Given the description of an element on the screen output the (x, y) to click on. 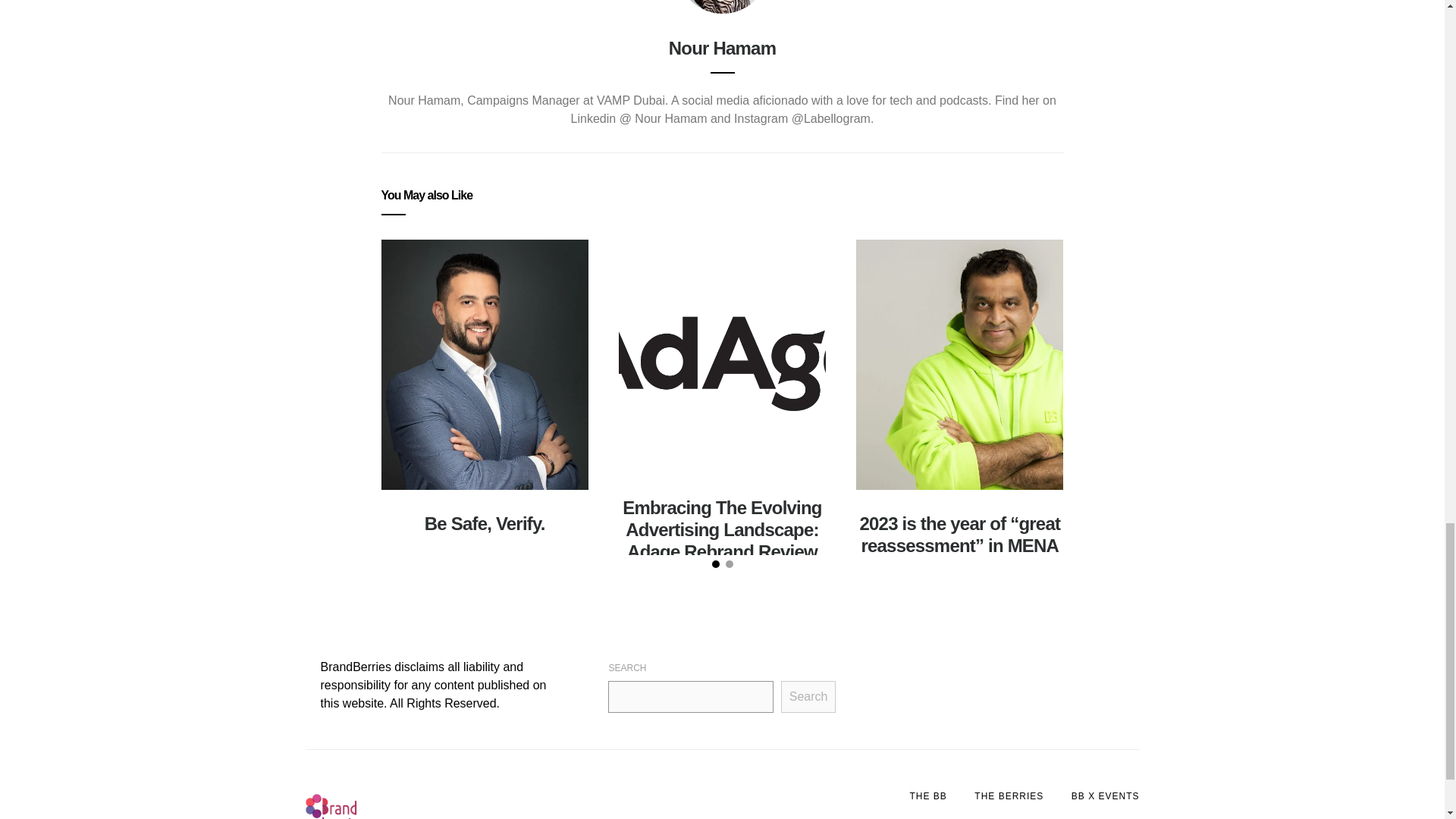
Nour Hamam (722, 47)
Posts by Nour Hamam (722, 47)
Be Safe, Verify. (484, 523)
